Given the description of an element on the screen output the (x, y) to click on. 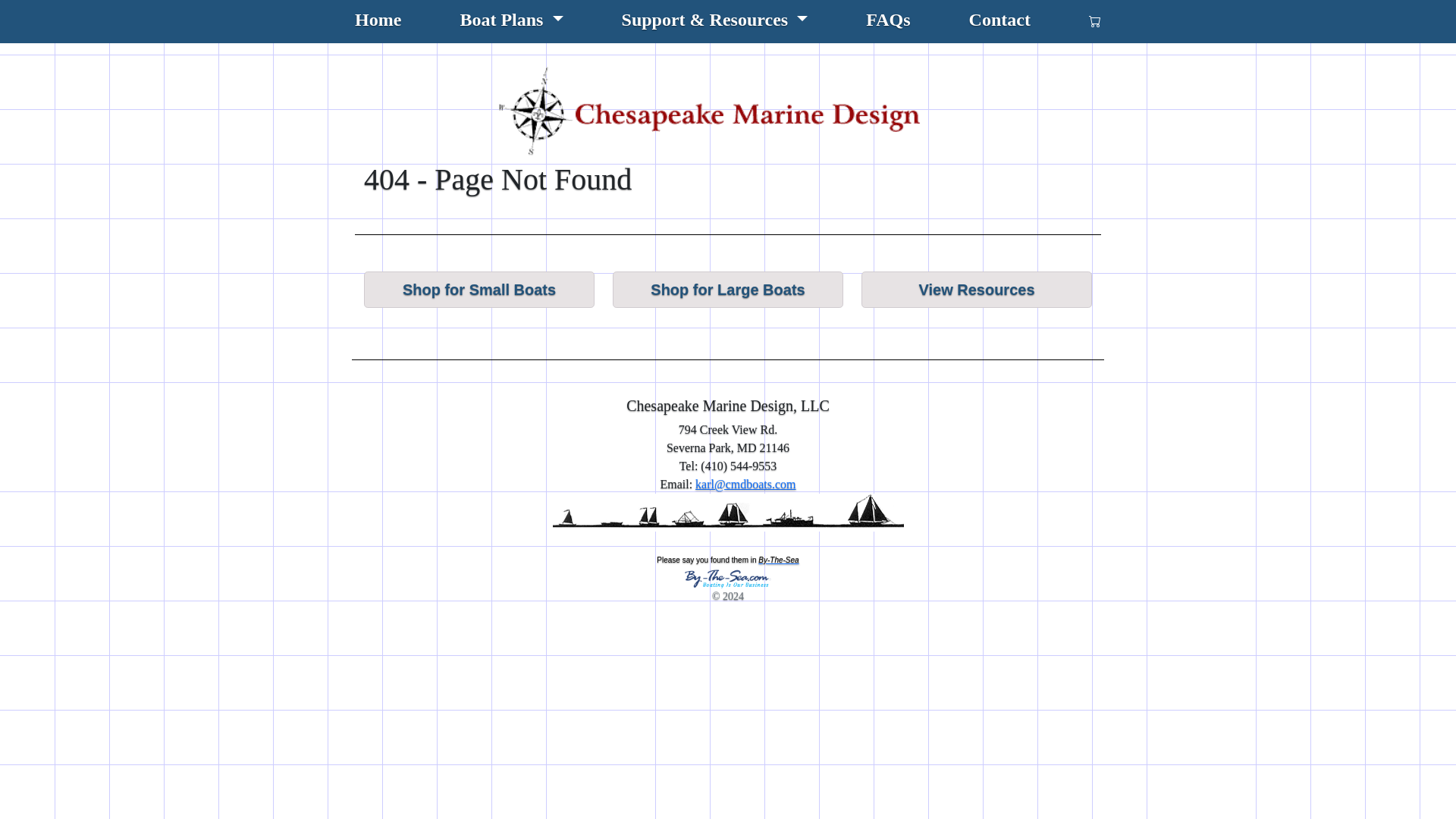
Home (378, 20)
Shop for Small Boats (479, 289)
Boat Plans (510, 20)
Contact (999, 20)
FAQs (887, 20)
Shop for Large Boats (727, 289)
View Resources (976, 289)
By-The-Sea (739, 569)
